Given the description of an element on the screen output the (x, y) to click on. 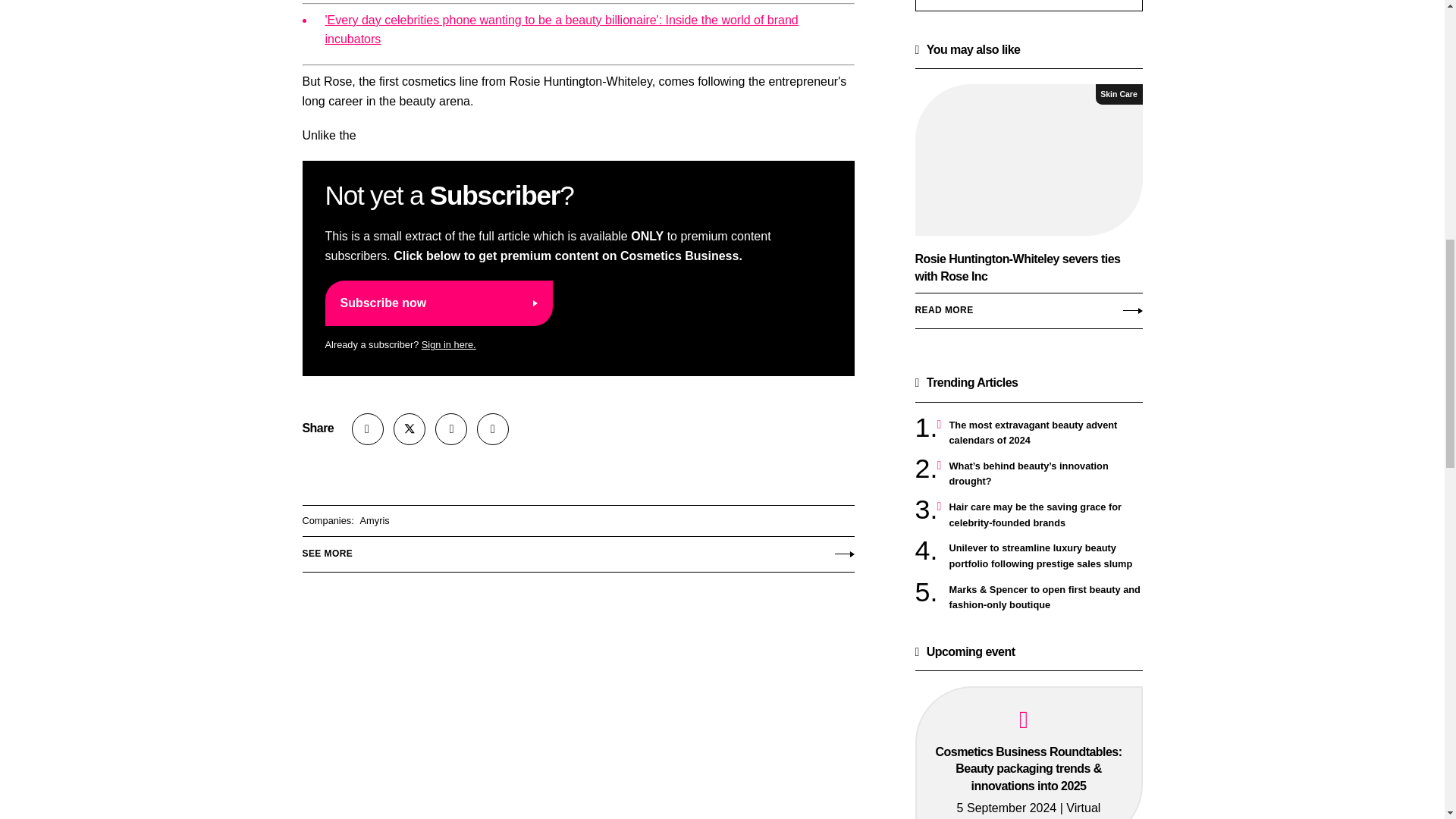
Follow Cosmetics Business on X (409, 429)
Sign in here. (449, 344)
Share (368, 429)
Subscribe now (437, 302)
Share this article (368, 429)
